Given the description of an element on the screen output the (x, y) to click on. 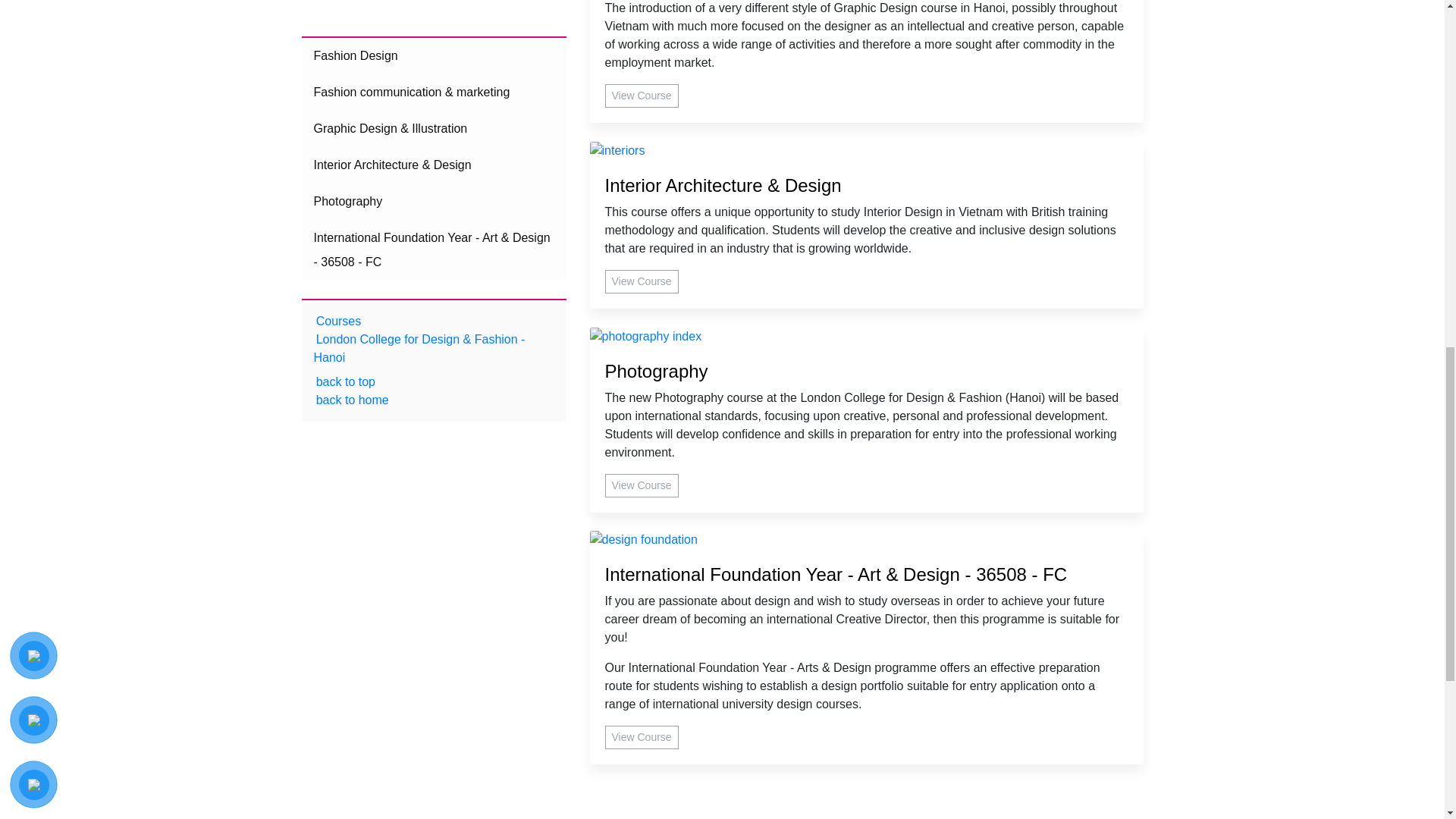
View Course (641, 95)
View Course (641, 485)
Photography (866, 372)
View Course (641, 281)
